Given the description of an element on the screen output the (x, y) to click on. 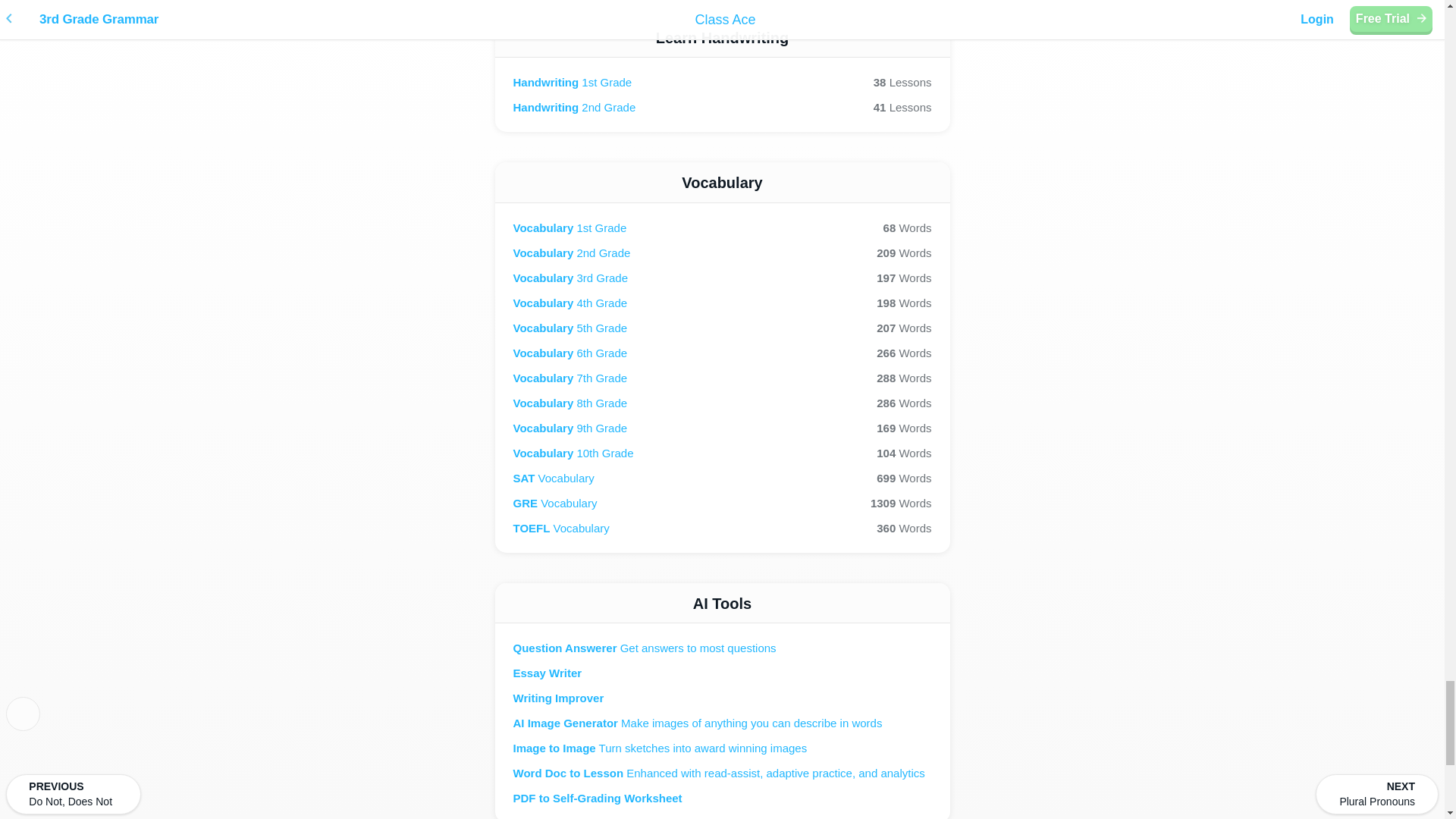
Learn Handwriting (722, 227)
Vocabulary (722, 277)
